Given the description of an element on the screen output the (x, y) to click on. 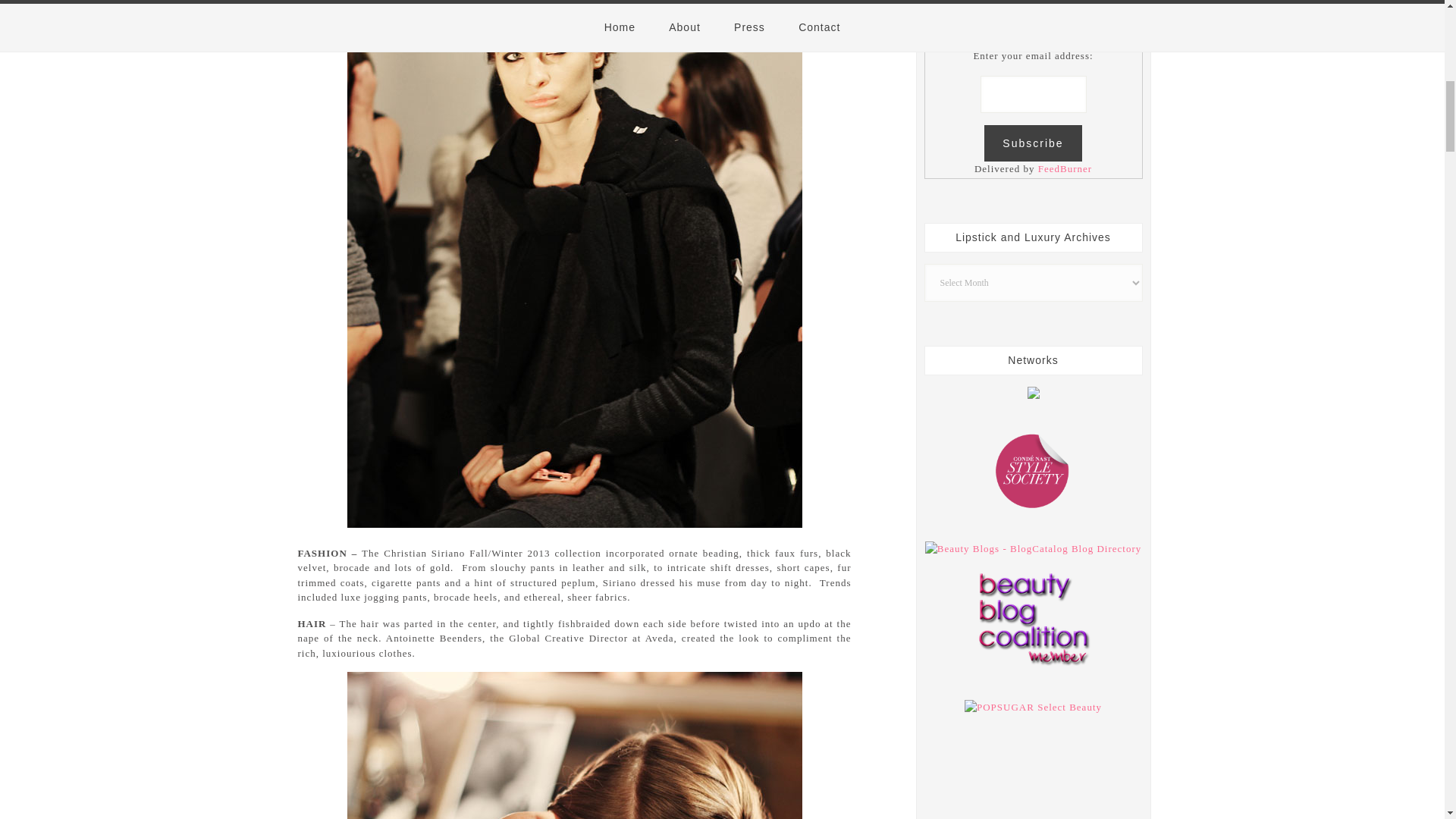
Beauty Blogs - BlogCatalog Blog Directory (1032, 548)
Subscribe (1032, 143)
